Given the description of an element on the screen output the (x, y) to click on. 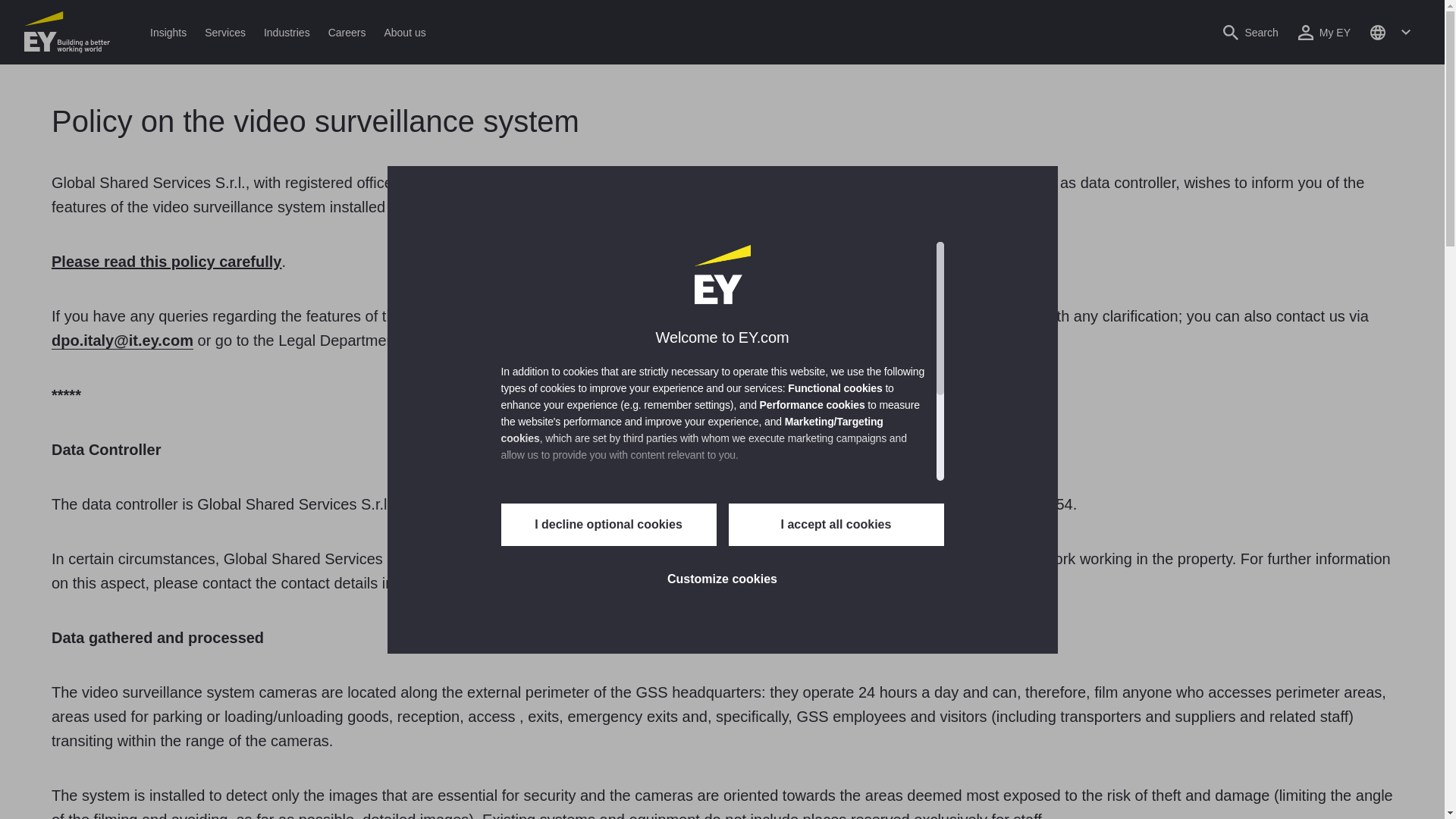
Open search (1250, 32)
EY Homepage (67, 32)
My EY (1324, 32)
